Given the description of an element on the screen output the (x, y) to click on. 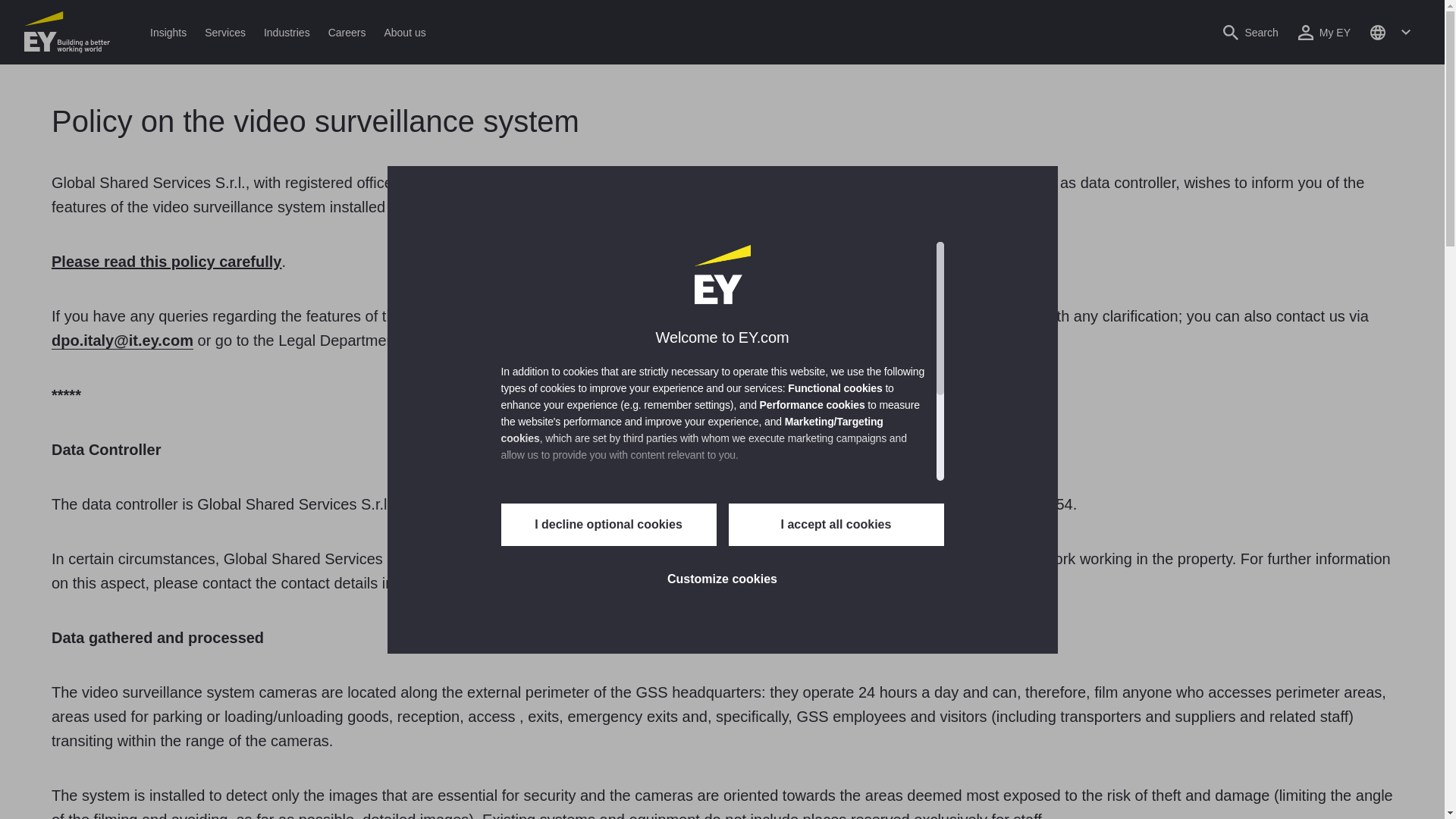
Open search (1250, 32)
EY Homepage (67, 32)
My EY (1324, 32)
